Given the description of an element on the screen output the (x, y) to click on. 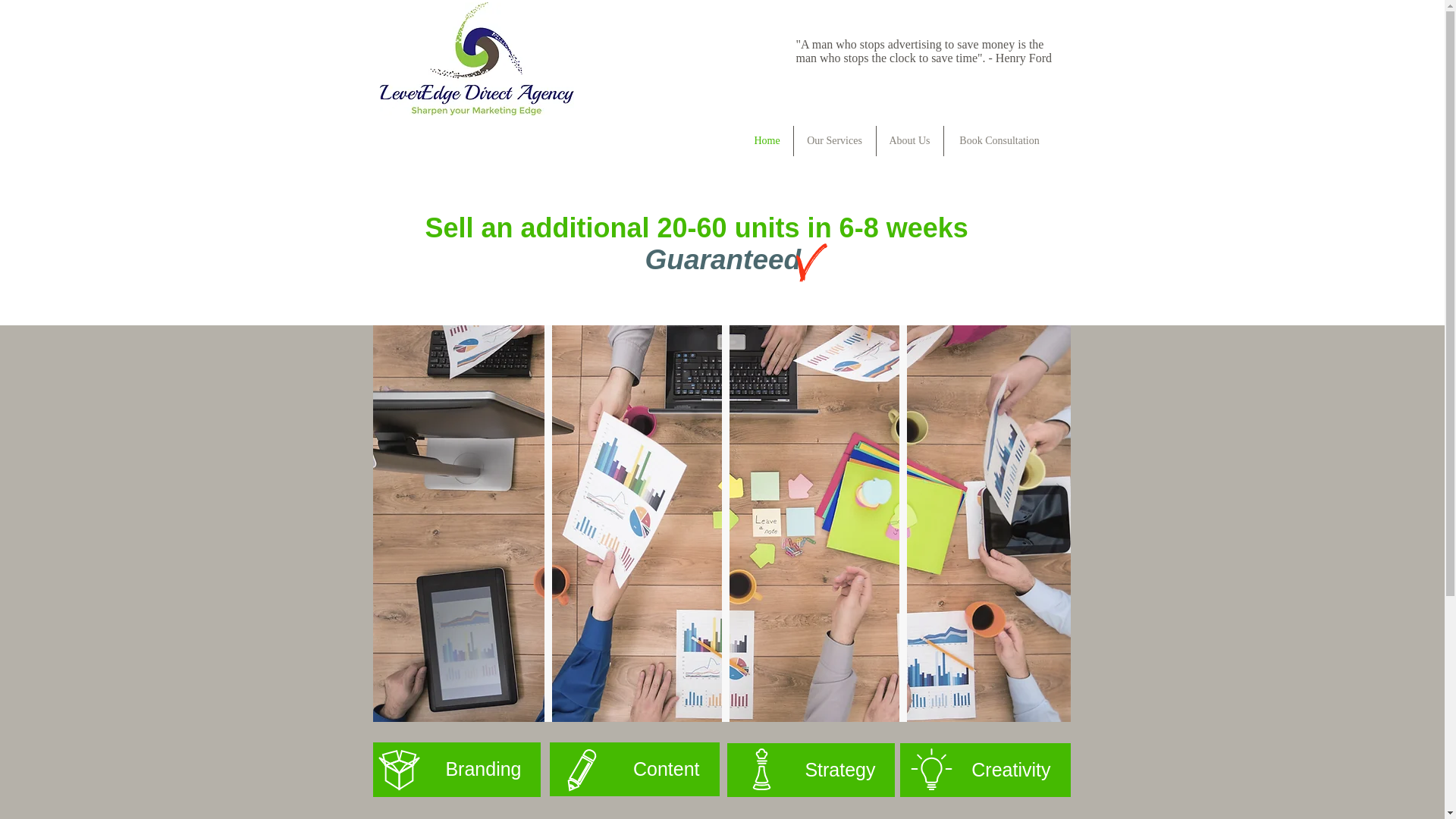
LeverEdge logo.jpg (475, 58)
Creativity (984, 769)
Content (633, 769)
Home (767, 141)
Book Consultation (998, 141)
Strategy (809, 769)
About Us (909, 141)
Branding (456, 769)
Our Services (834, 141)
